Given the description of an element on the screen output the (x, y) to click on. 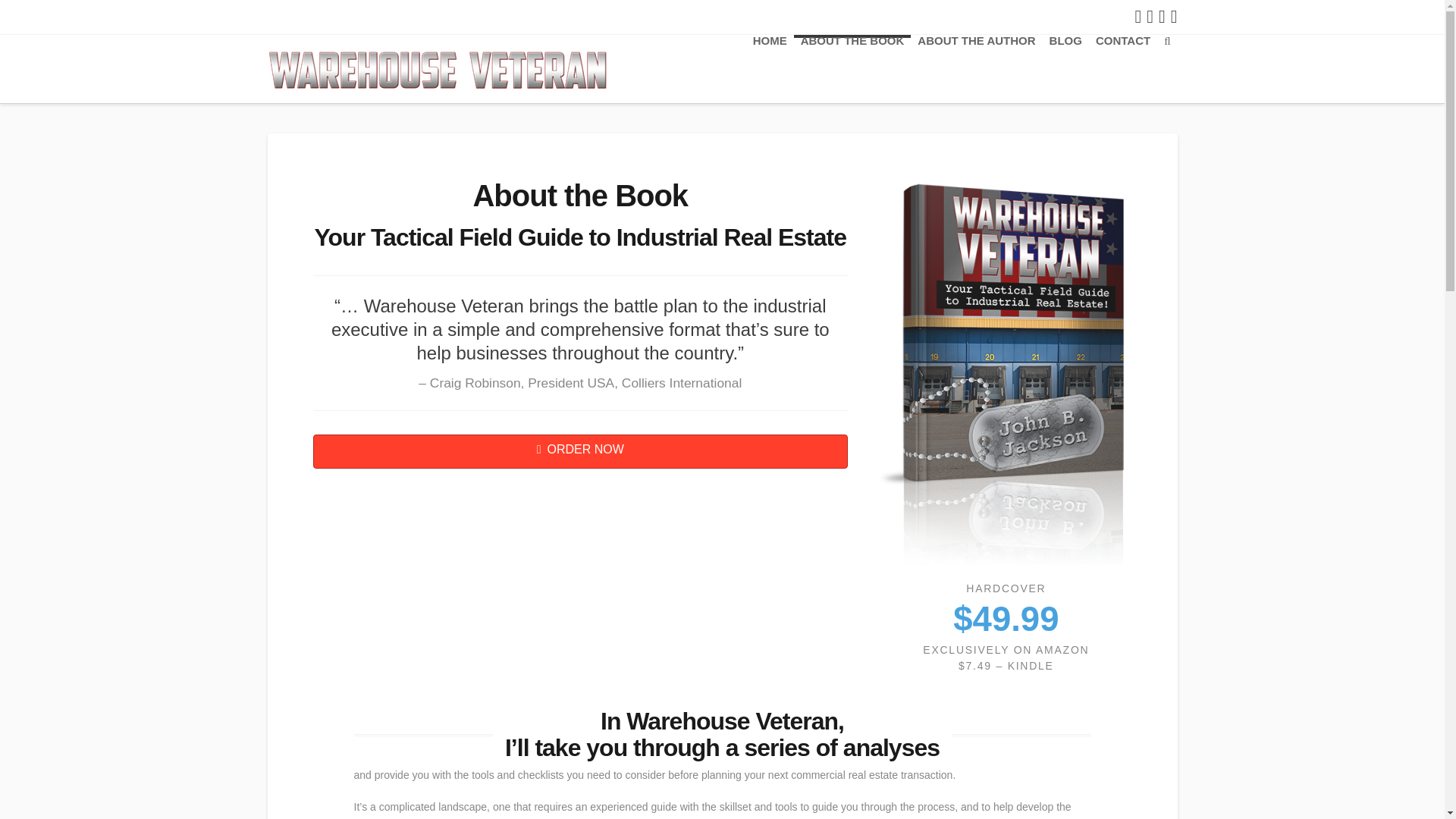
HOME (769, 69)
ORDER NOW (580, 451)
CONTACT (1123, 69)
LinkedIn (1150, 16)
RSS (1173, 16)
ABOUT THE AUTHOR (976, 69)
BLOG (1065, 69)
YouTube (1162, 16)
Facebook (1137, 16)
ABOUT THE BOOK (852, 69)
Your Tactical Field Guide to Industrial Real Estate (437, 68)
